Given the description of an element on the screen output the (x, y) to click on. 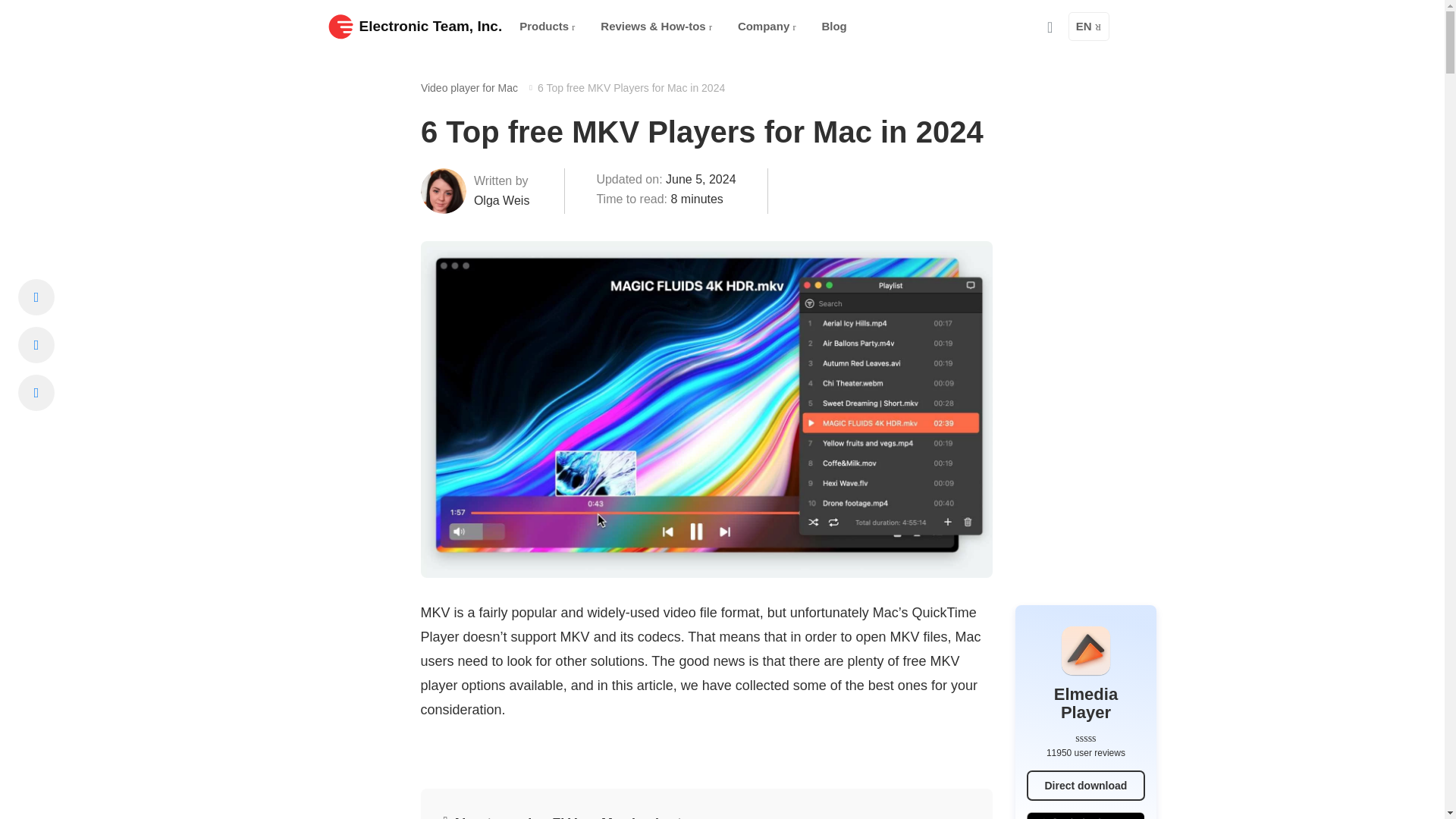
Blog (834, 26)
Electronic Team, Inc. (414, 25)
EN (1088, 26)
Products (547, 26)
Blog (834, 26)
Company (767, 26)
